Given the description of an element on the screen output the (x, y) to click on. 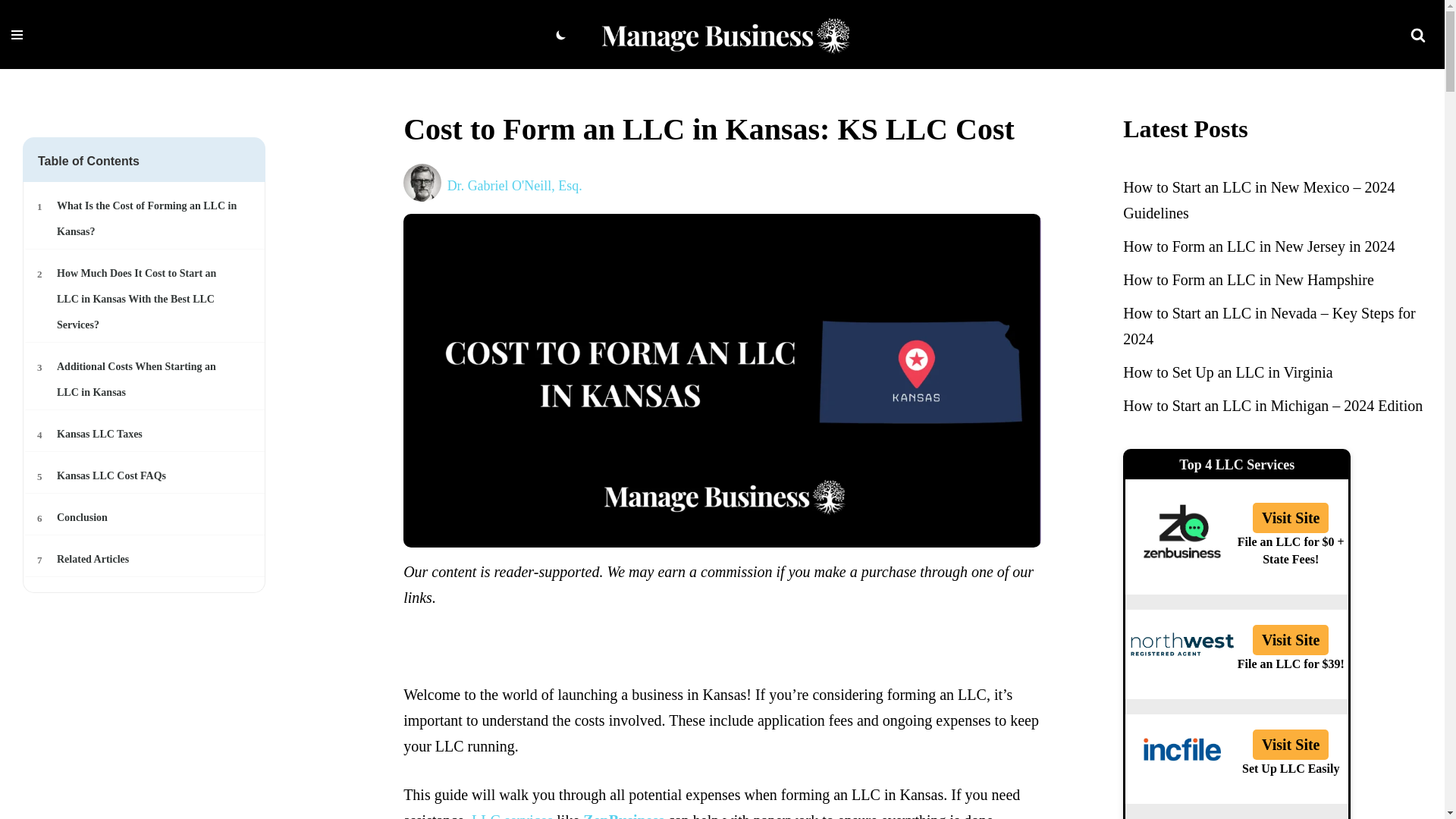
Skip to content (11, 31)
ZenBusiness (145, 218)
Conclusion (623, 815)
ZenBusiness - Generic LLC Filing (145, 517)
Kansas LLC Cost FAQs (623, 815)
Navigation Menu (145, 559)
Additional Costs When Starting an LLC in Kansas (145, 476)
What Is the Cost of Forming an LLC in Kansas? (17, 34)
LLC services (145, 517)
Navigation Menu (145, 476)
